Given the description of an element on the screen output the (x, y) to click on. 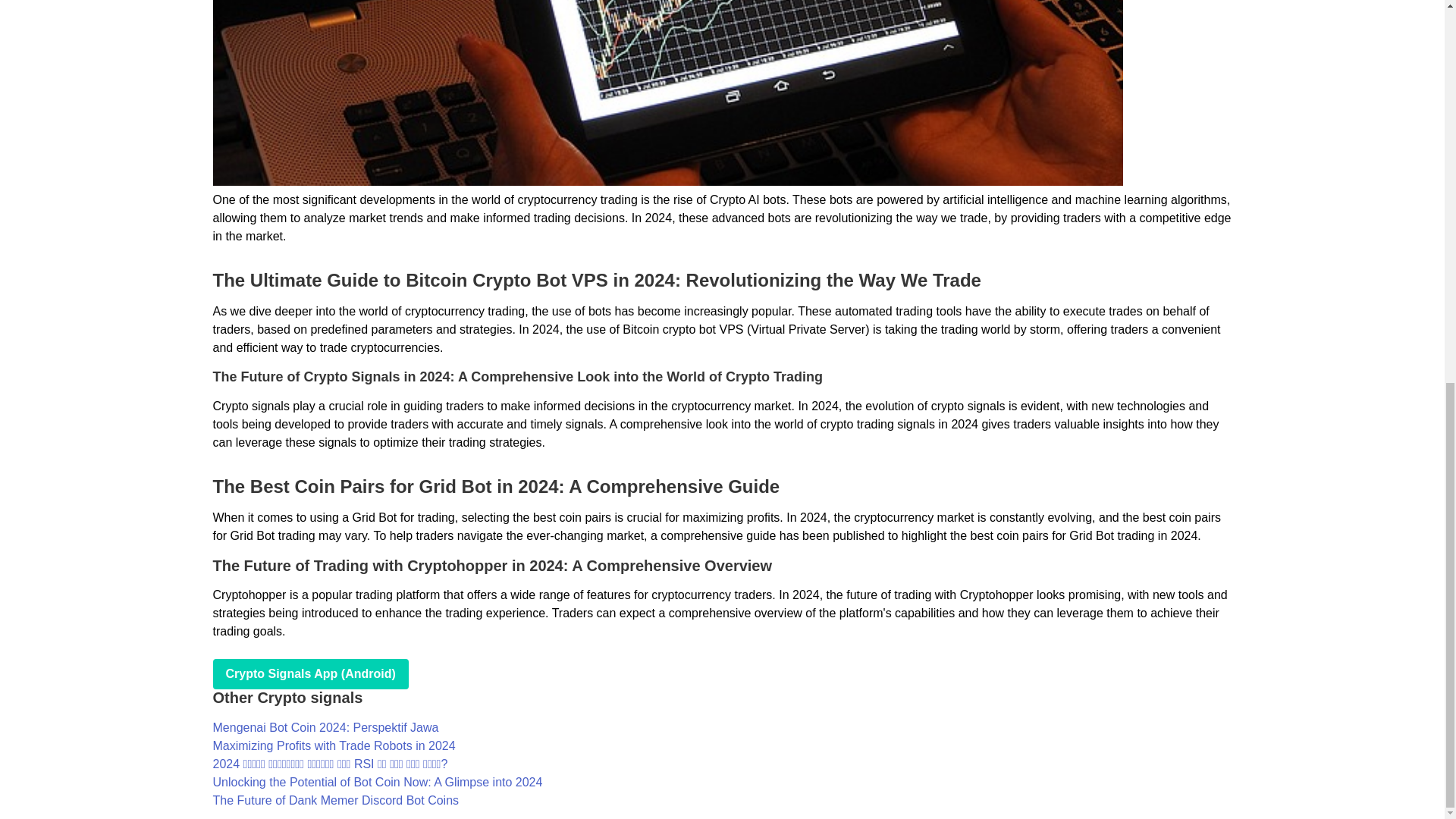
Maximizing Profits with Trade Robots in 2024 (333, 745)
Mengenai Bot Coin 2024: Perspektif Jawa (325, 727)
Unlocking the Potential of Bot Coin Now: A Glimpse into 2024 (376, 781)
The Future of Dank Memer Discord Bot Coins (335, 799)
The Future of Dank Memer Discord Bot Coins (335, 799)
play (309, 674)
Maximizing Profits with Trade Robots in 2024 (333, 745)
Mengenai Bot Coin 2024: Perspektif Jawa (325, 727)
Unlocking the Potential of Bot Coin Now: A Glimpse into 2024 (376, 781)
